Given the description of an element on the screen output the (x, y) to click on. 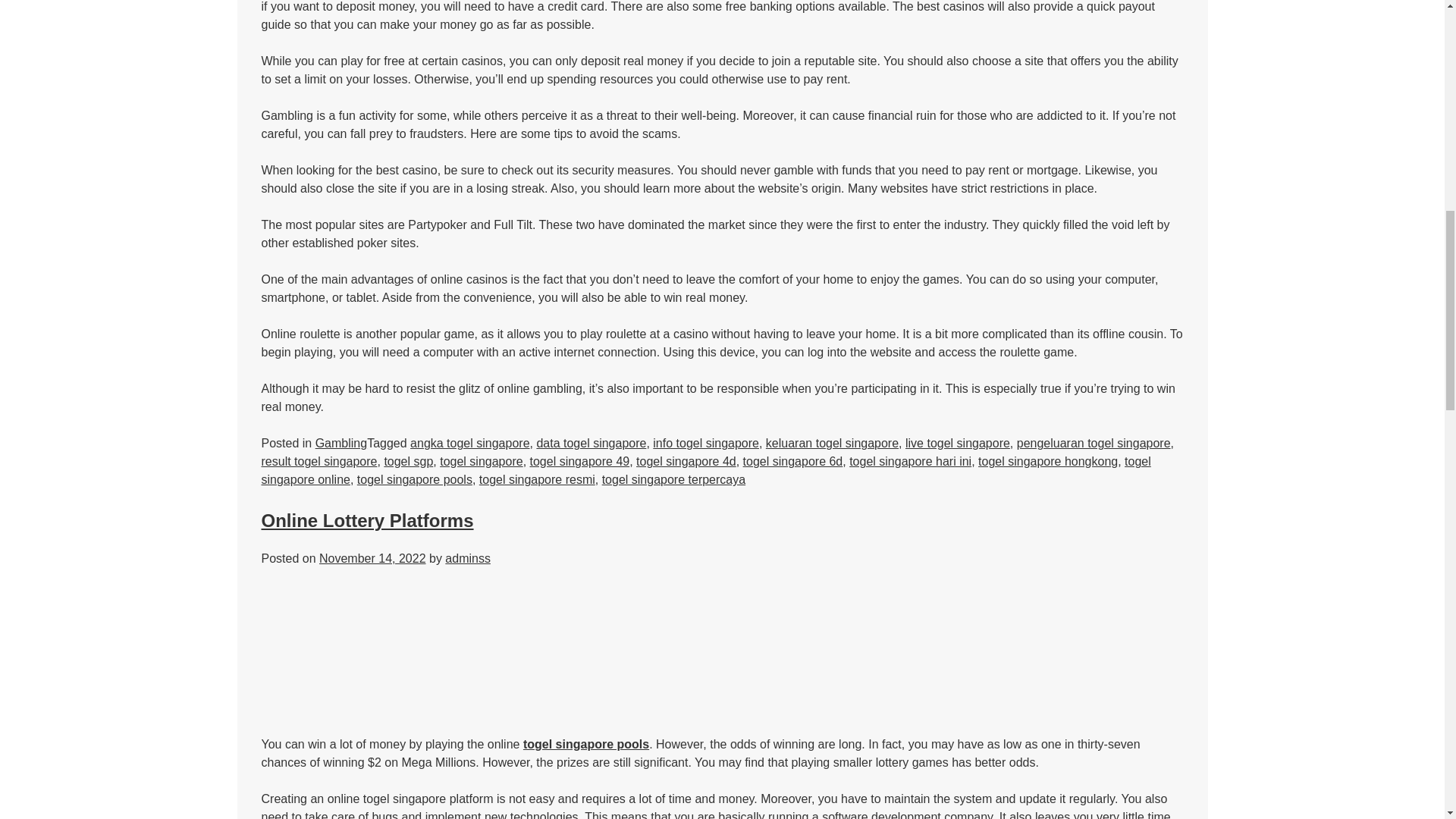
data togel singapore (590, 442)
live togel singapore (957, 442)
togel singapore online (705, 470)
togel sgp (408, 461)
adminss (467, 558)
info togel singapore (705, 442)
togel singapore pools (585, 744)
togel singapore 4d (686, 461)
togel singapore pools (413, 479)
togel singapore terpercaya (673, 479)
Online Lottery Platforms (366, 520)
togel singapore 6d (792, 461)
togel singapore hongkong (1048, 461)
pengeluaran togel singapore (1093, 442)
togel singapore hari ini (909, 461)
